Given the description of an element on the screen output the (x, y) to click on. 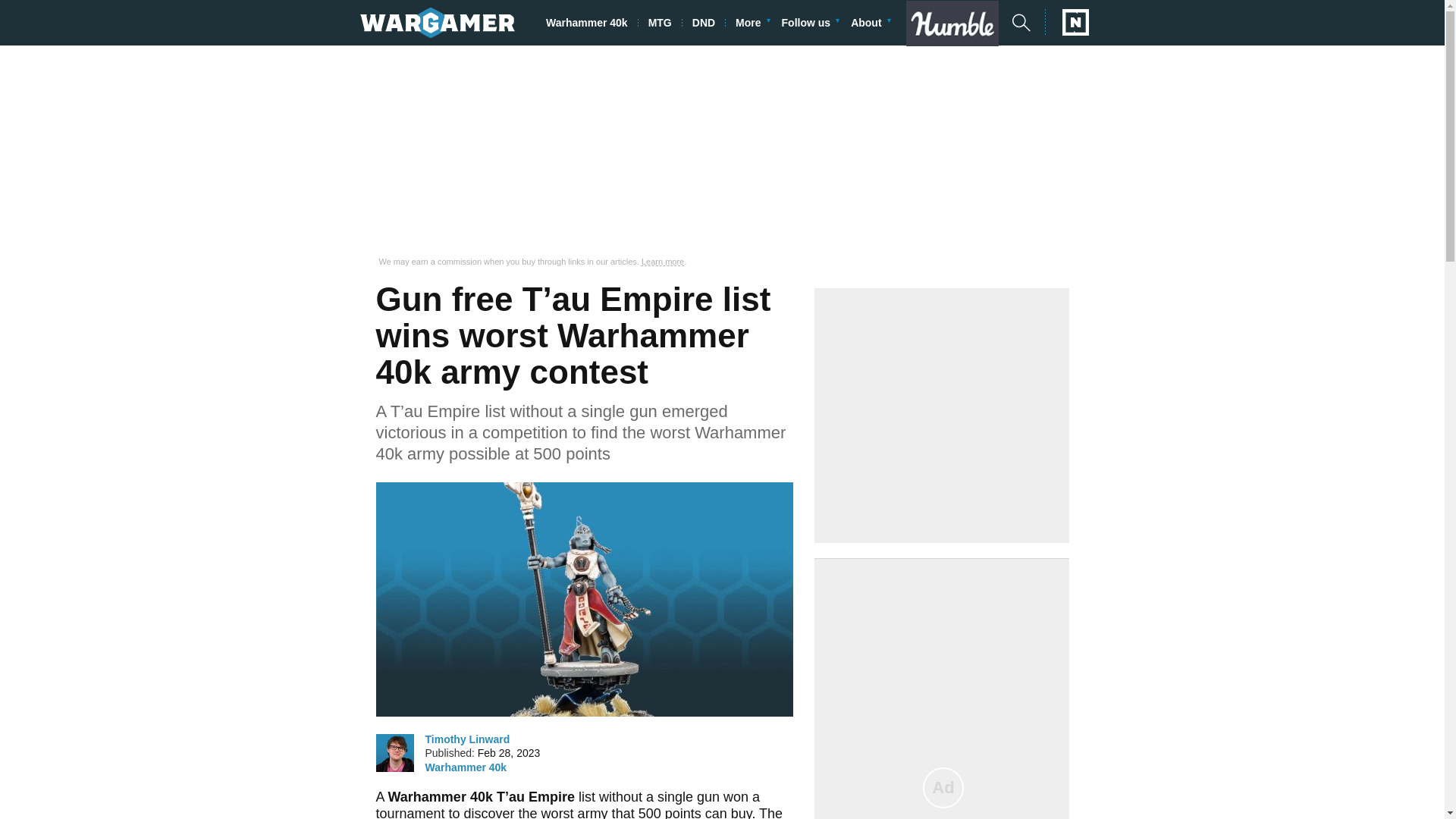
Wargamer (437, 22)
Warhammer 40k (465, 767)
Humble Bundle partnership (957, 22)
Follow us (810, 22)
Warhammer 40k (591, 22)
Network N Media (1067, 22)
Learn more (663, 261)
Timothy Linward (394, 752)
Timothy Linward (467, 739)
